Given the description of an element on the screen output the (x, y) to click on. 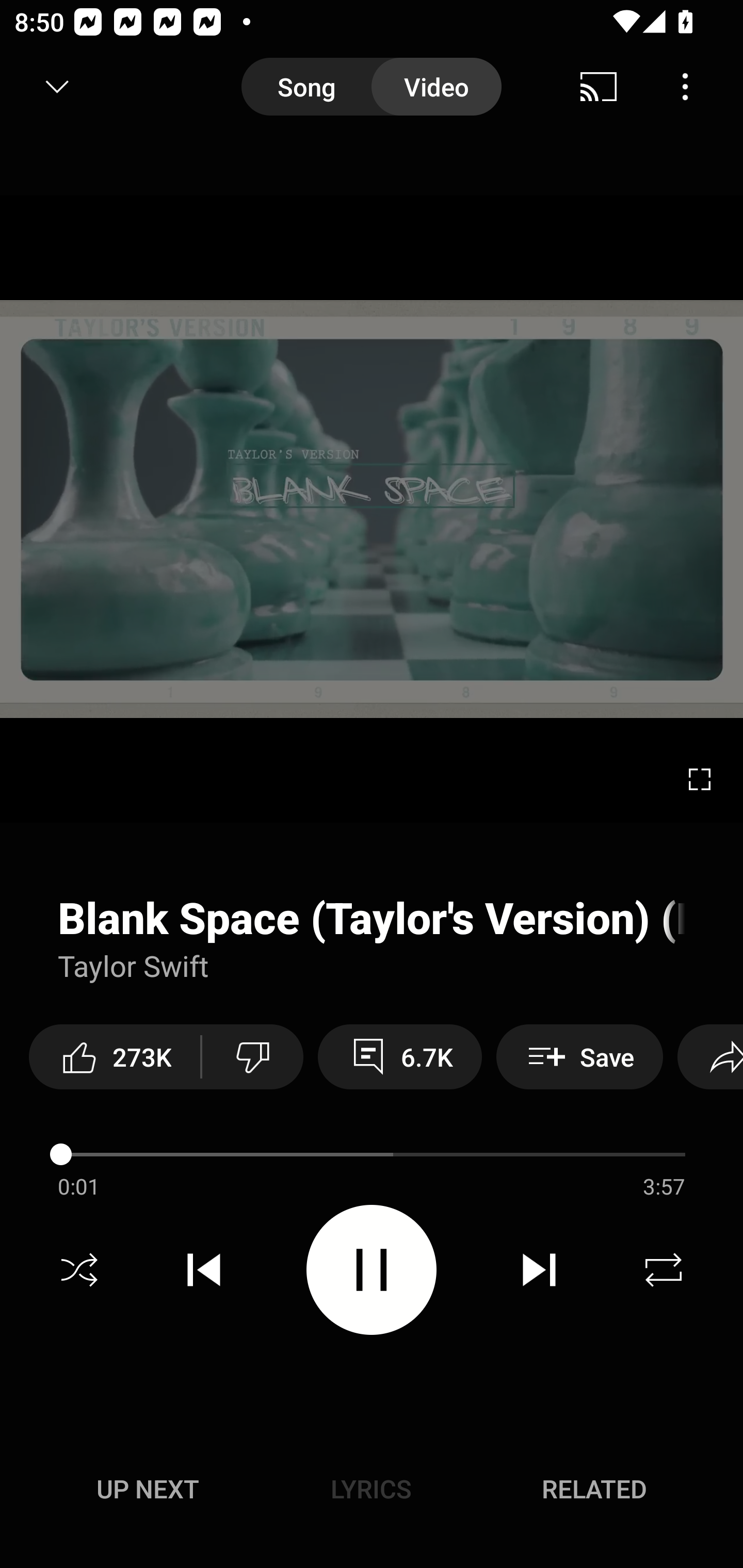
Cast. Disconnected (598, 86)
Menu (684, 86)
Back (50, 86)
Enter fullscreen (699, 779)
Action menu (371, 937)
Dislike (252, 1056)
6.7K View 6,768 comments (400, 1056)
Save Save to playlist (579, 1056)
Share (710, 1056)
Action menu (371, 1168)
Pause video (371, 1269)
Shuffle off (79, 1269)
Previous track (203, 1269)
Next track (538, 1269)
Repeat off (663, 1269)
Lyrics LYRICS (370, 1488)
Related RELATED (594, 1488)
